Given the description of an element on the screen output the (x, y) to click on. 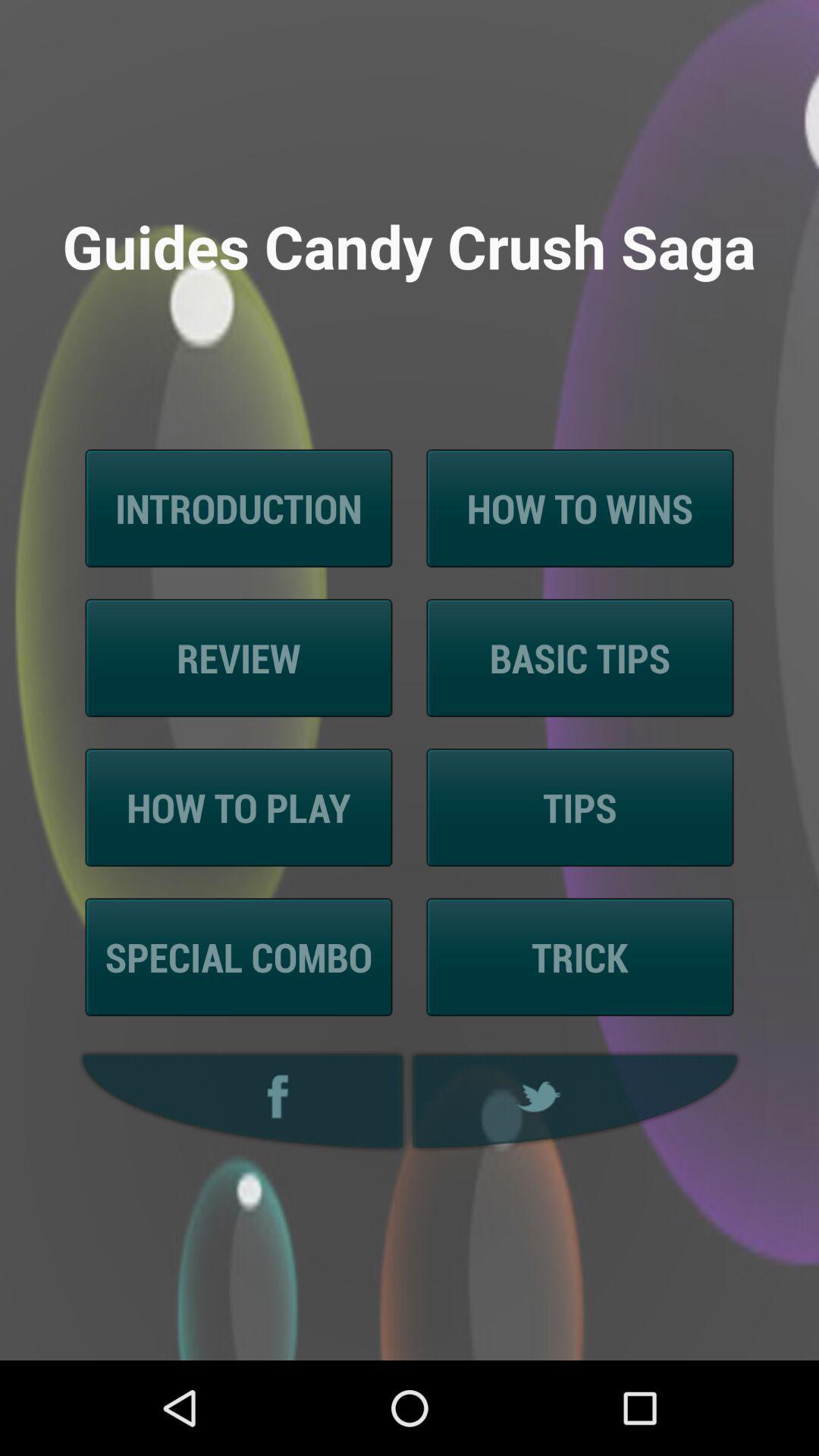
turn off item next to special combo (579, 957)
